Given the description of an element on the screen output the (x, y) to click on. 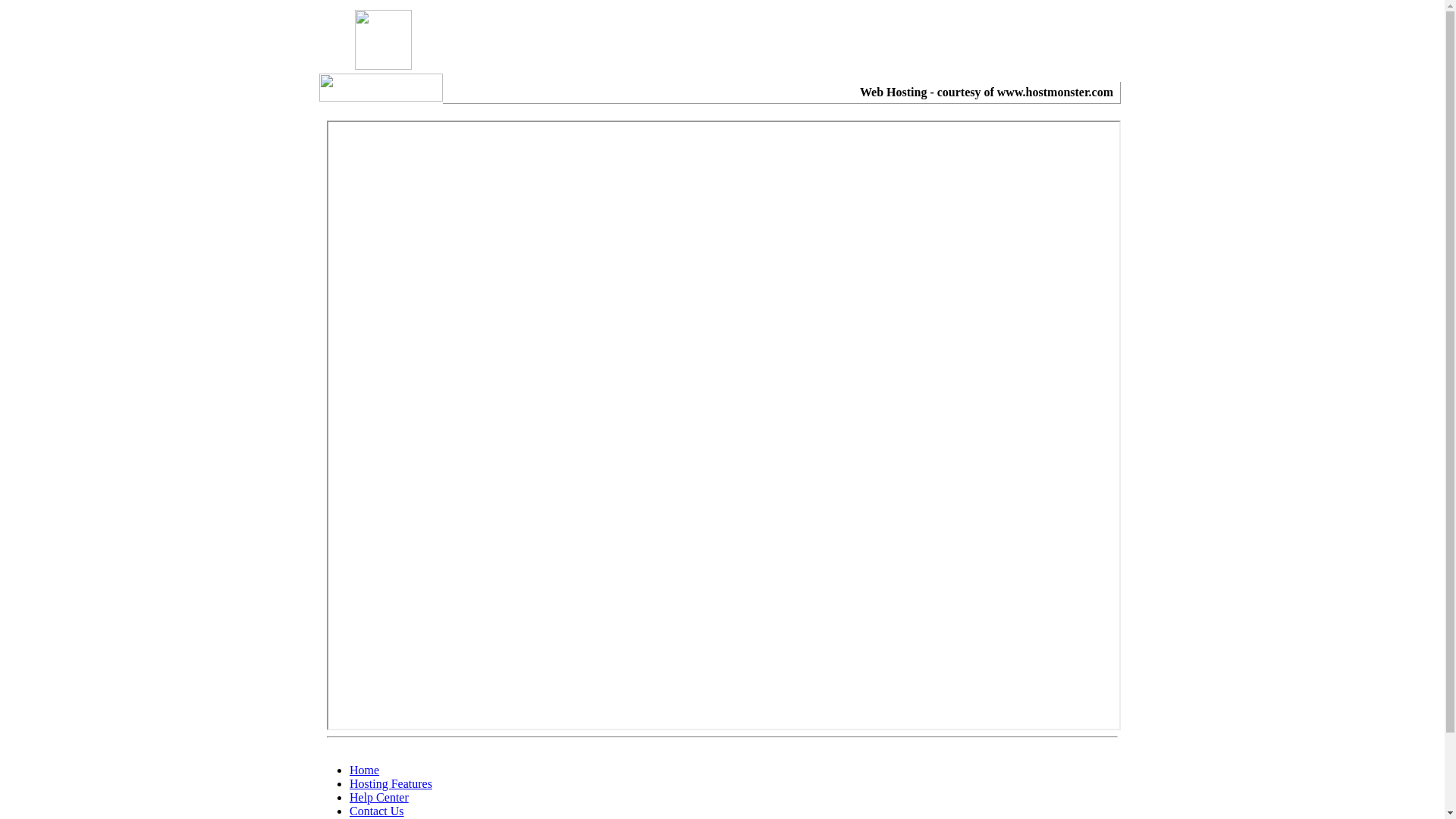
Contact Us Element type: text (376, 810)
Help Center Element type: text (378, 796)
Home Element type: text (364, 769)
Web Hosting - courtesy of www.hostmonster.com Element type: text (986, 91)
Hosting Features Element type: text (390, 783)
